Given the description of an element on the screen output the (x, y) to click on. 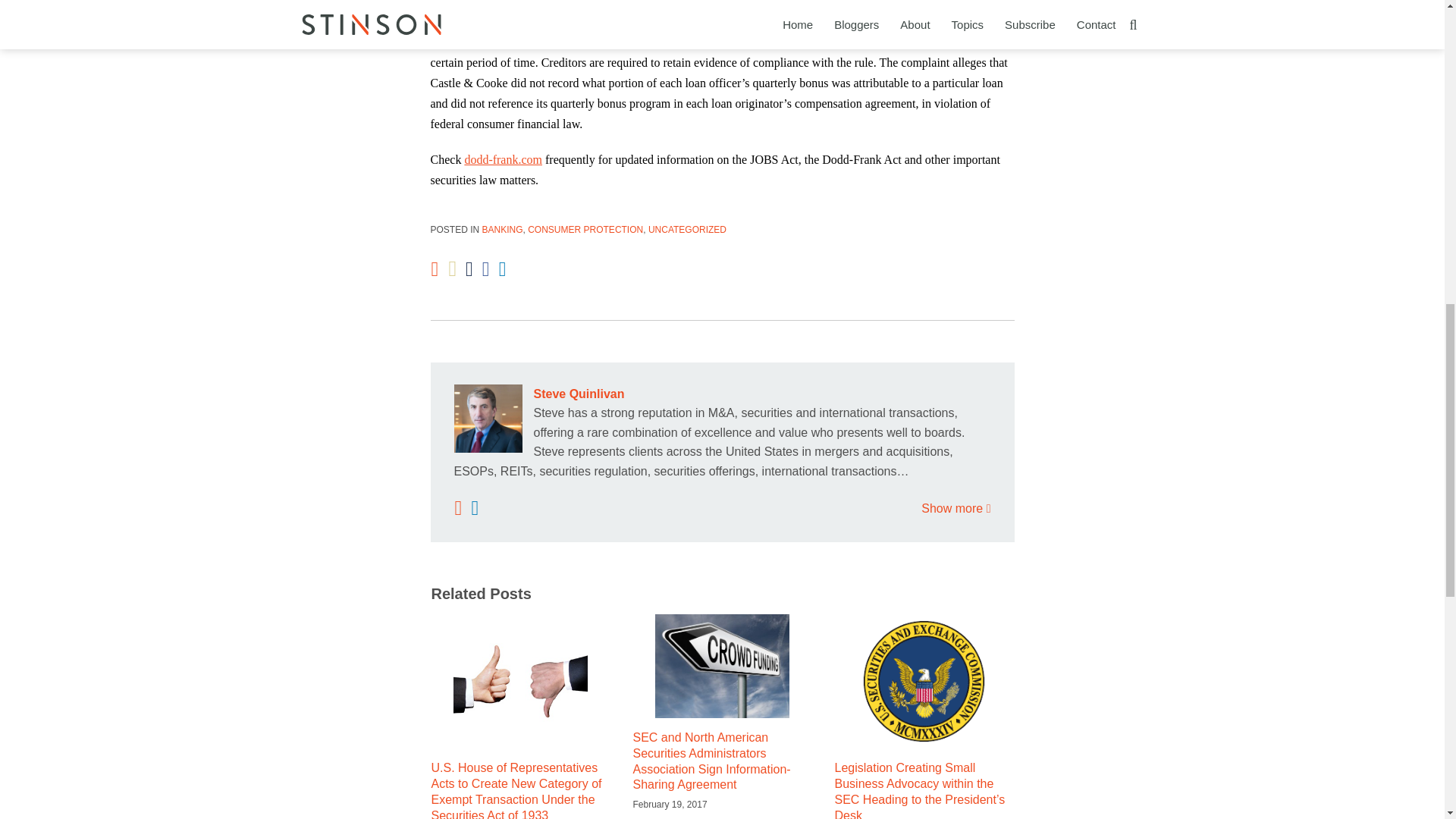
Show more (955, 508)
dodd-frank.com (502, 159)
Steve Quinlivan (721, 394)
CONSUMER PROTECTION (585, 229)
UNCATEGORIZED (686, 229)
BANKING (501, 229)
